Given the description of an element on the screen output the (x, y) to click on. 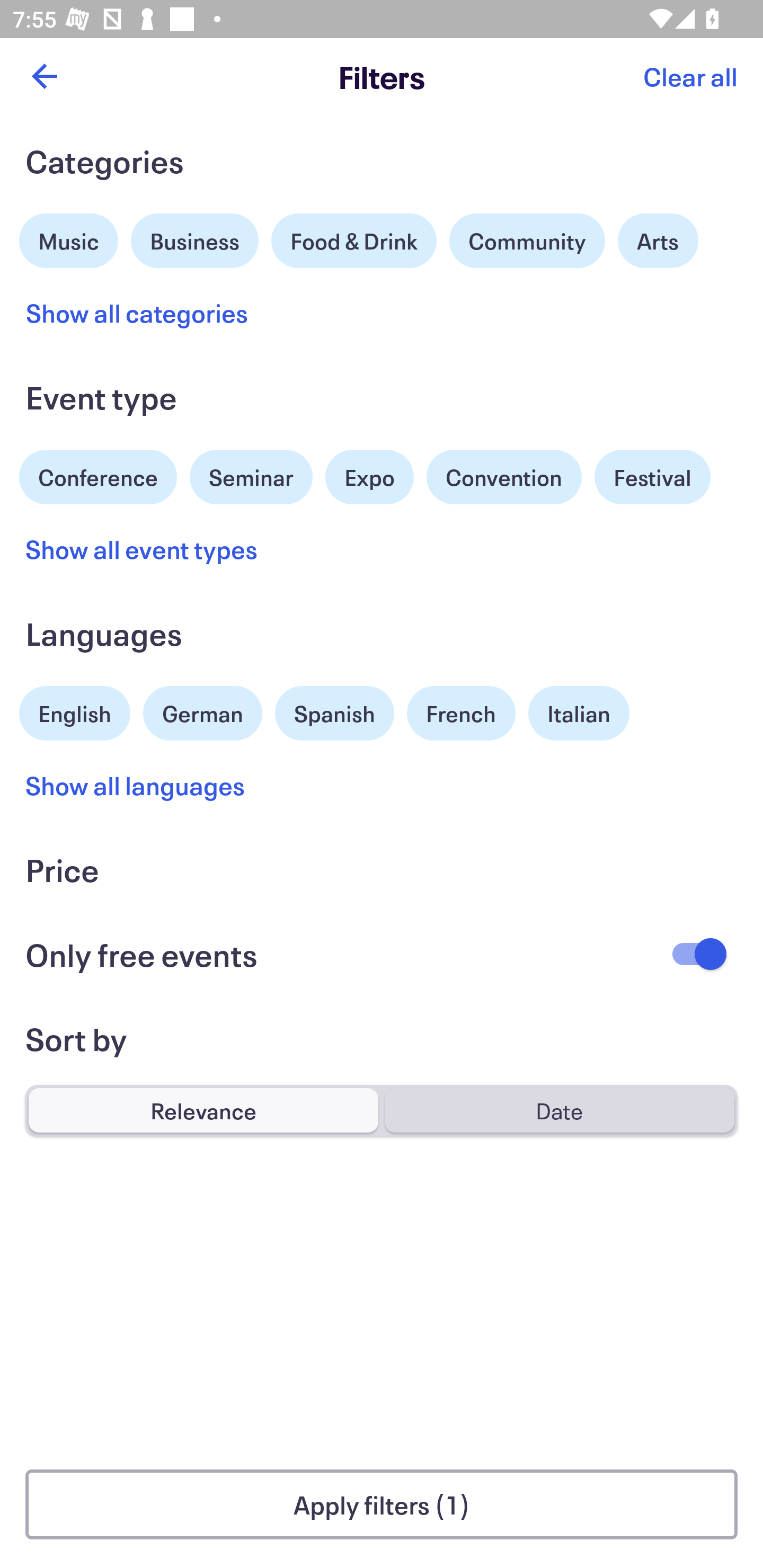
Back button (44, 75)
Clear all (690, 75)
Music (68, 238)
Business (194, 238)
Food & Drink (353, 240)
Community (527, 240)
Arts (658, 240)
Show all categories (136, 312)
Conference (98, 475)
Seminar (250, 477)
Expo (369, 477)
Convention (503, 477)
Festival (652, 477)
Show all event types (141, 548)
English (74, 710)
German (202, 710)
Spanish (334, 713)
French (460, 713)
Italian (578, 713)
Show all languages (135, 784)
Relevance (203, 1109)
Date (559, 1109)
Apply filters (1) (381, 1504)
